Given the description of an element on the screen output the (x, y) to click on. 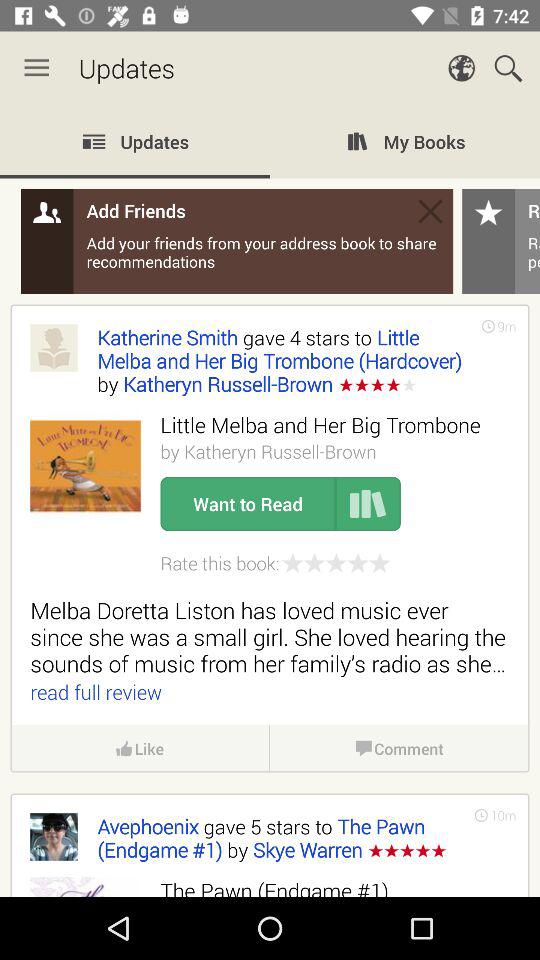
launch melba doretta liston icon (269, 636)
